Given the description of an element on the screen output the (x, y) to click on. 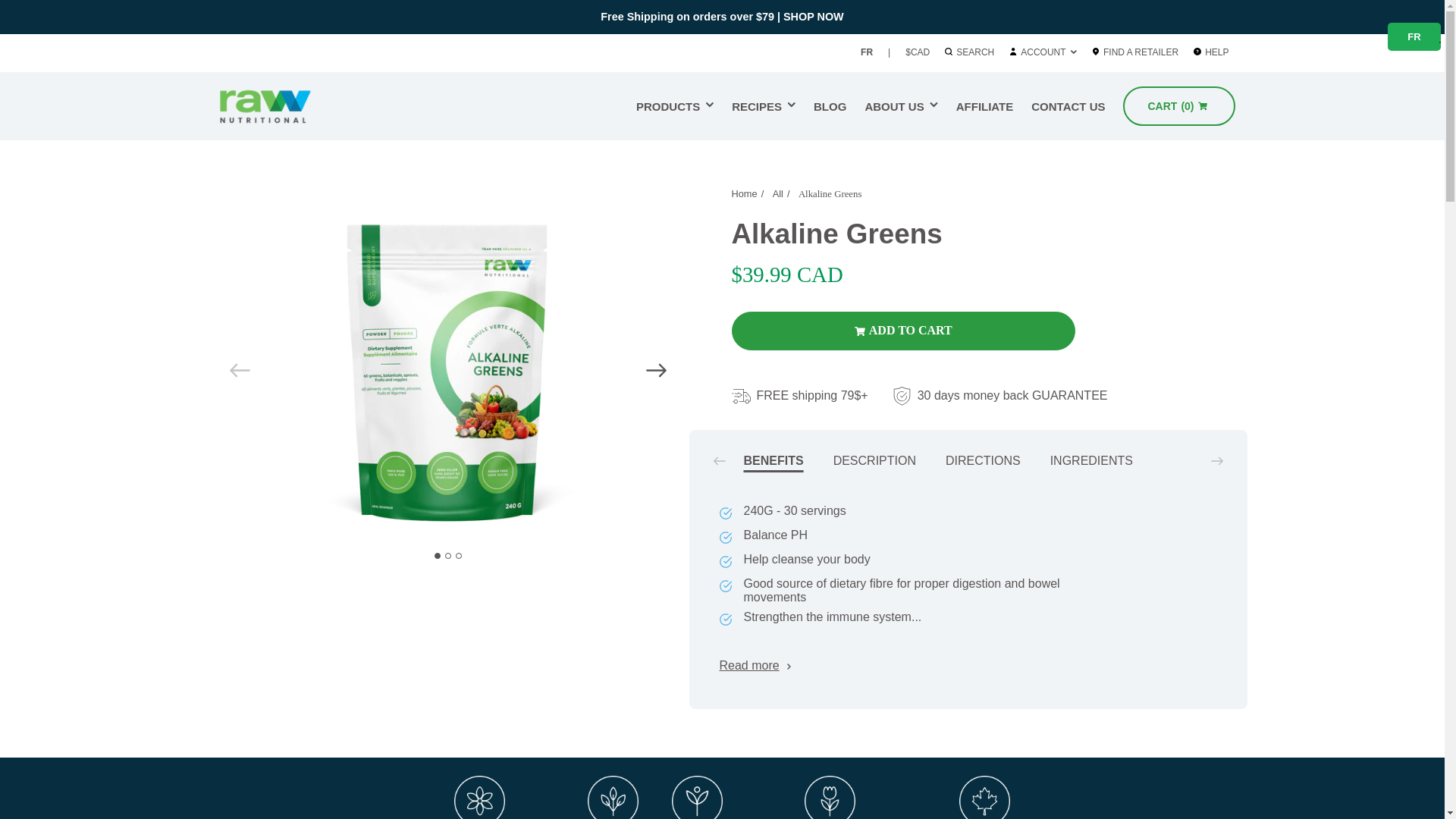
ACCOUNT (763, 106)
EXPAND (1042, 52)
FR (710, 104)
RAW Nutritional (674, 106)
EXPAND (866, 52)
HELP (284, 106)
EXPAND (1073, 52)
BLOG (1218, 52)
EXPAND (900, 106)
FIND A RETAILER (933, 104)
FR (829, 106)
